Given the description of an element on the screen output the (x, y) to click on. 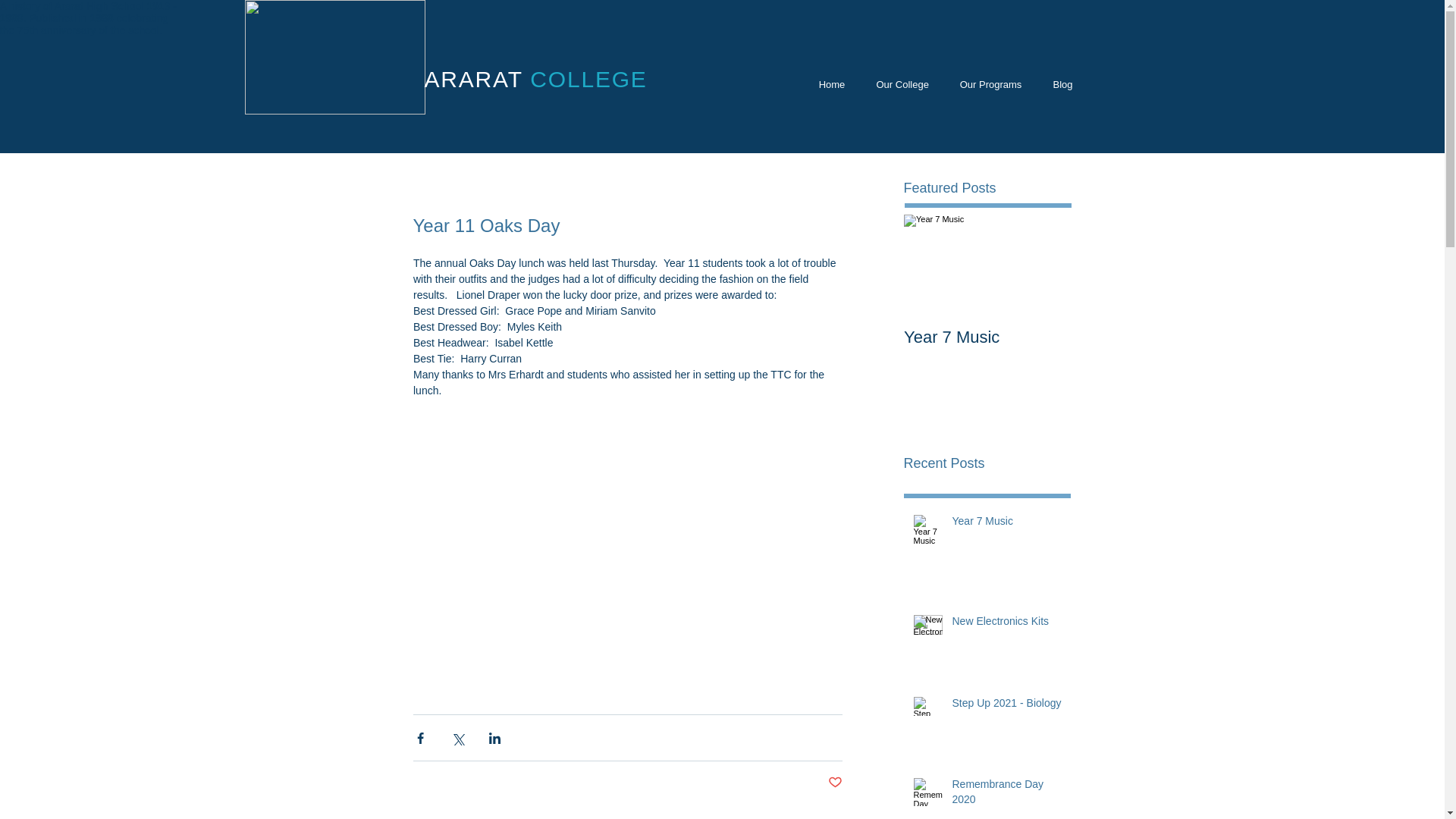
New Electronics Kits (1006, 624)
Blog (1061, 84)
Home (831, 84)
Step Up 2021 - Biology (1006, 706)
Post not marked as liked (835, 782)
Year 7 Music (987, 337)
Remembrance Day 2020 (1006, 795)
ARARAT COLLEGE (536, 78)
Year 7 Music (1006, 524)
